Given the description of an element on the screen output the (x, y) to click on. 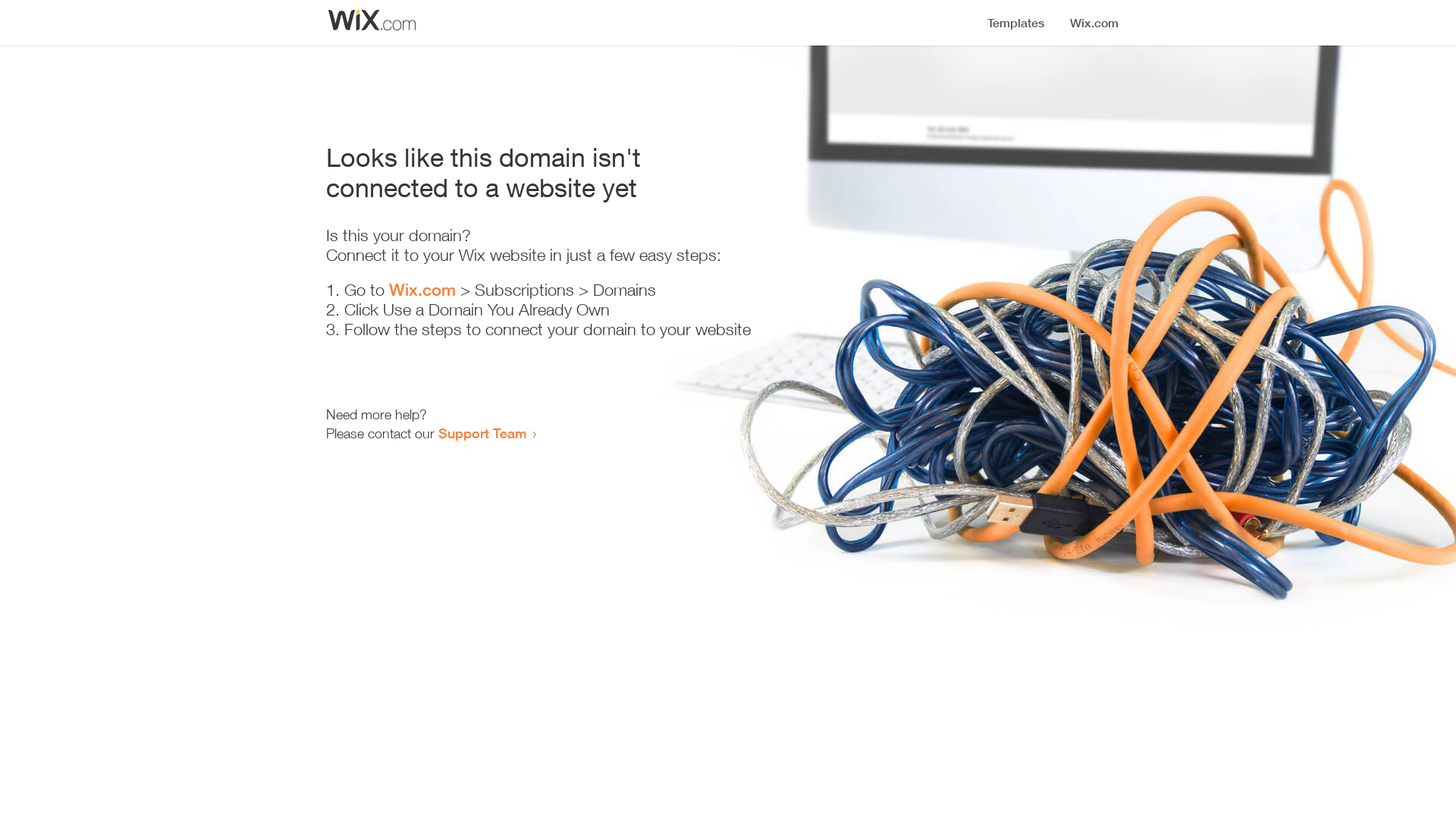
Support Team Element type: text (482, 432)
Wix.com Element type: text (422, 289)
